Given the description of an element on the screen output the (x, y) to click on. 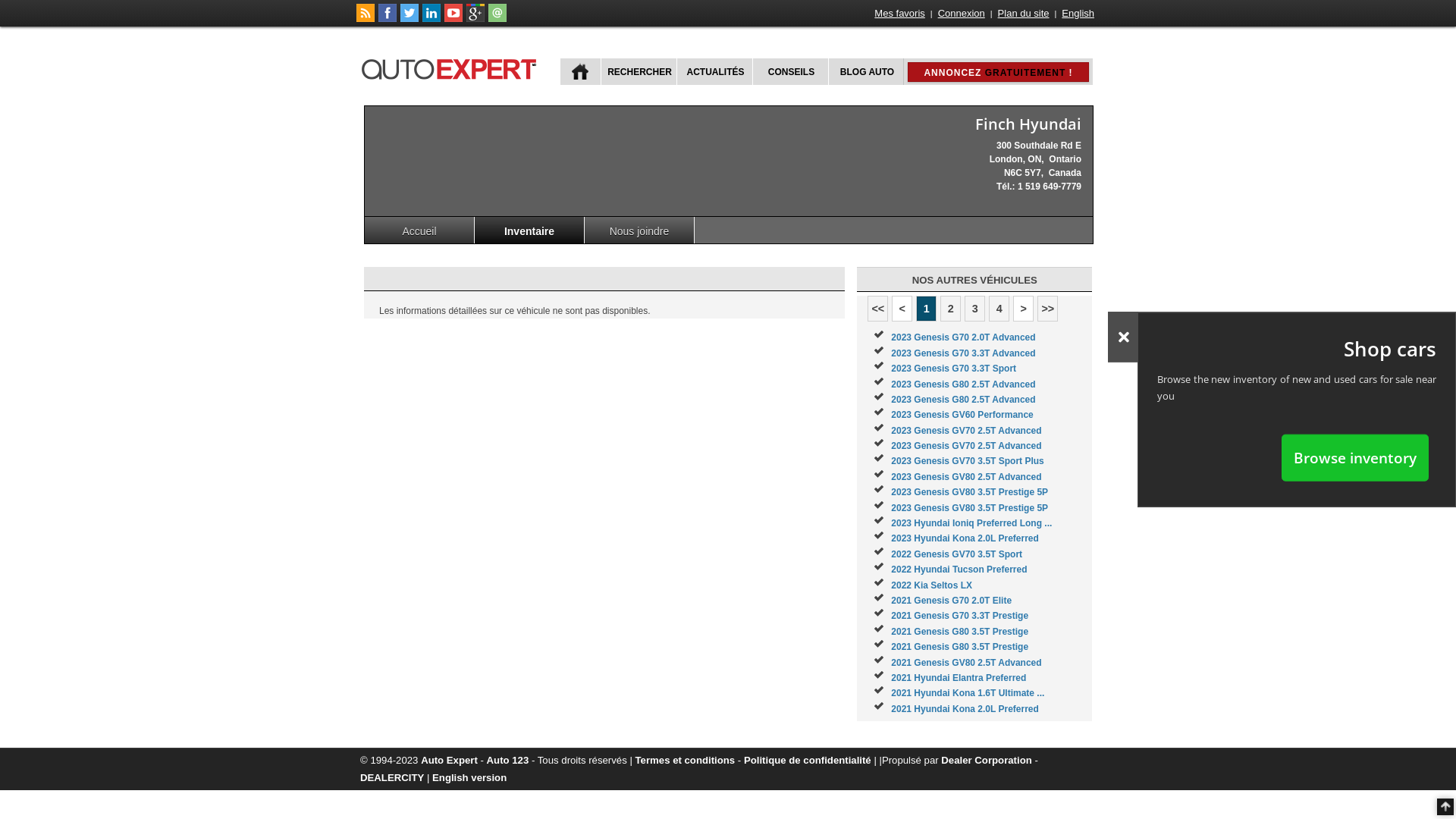
2021 Genesis G70 2.0T Elite Element type: text (951, 600)
2023 Genesis GV70 2.5T Advanced Element type: text (966, 430)
Joindre autoExpert.ca Element type: hover (497, 18)
2023 Genesis G70 2.0T Advanced Element type: text (963, 337)
2023 Genesis GV70 2.5T Advanced Element type: text (966, 445)
>> Element type: text (1047, 308)
Suivez autoExpert.ca sur Twitter Element type: hover (409, 18)
Termes et conditions Element type: text (685, 759)
2023 Genesis G80 2.5T Advanced Element type: text (963, 384)
Nous joindre Element type: text (639, 229)
2023 Genesis GV80 3.5T Prestige 5P Element type: text (969, 491)
ACCUEIL Element type: text (580, 71)
Accueil Element type: text (419, 229)
> Element type: text (1023, 308)
4 Element type: text (998, 308)
2021 Hyundai Elantra Preferred Element type: text (958, 677)
2023 Genesis GV80 2.5T Advanced Element type: text (966, 476)
2022 Kia Seltos LX Element type: text (931, 585)
1 Element type: text (926, 308)
English Element type: text (1077, 13)
2023 Hyundai Kona 2.0L Preferred Element type: text (964, 538)
2023 Genesis GV70 3.5T Sport Plus Element type: text (967, 460)
Browse inventory Element type: text (1354, 457)
Plan du site Element type: text (1023, 13)
Auto Expert Element type: text (448, 759)
< Element type: text (901, 308)
Inventaire Element type: text (529, 229)
DEALERCITY Element type: text (391, 777)
2023 Genesis G70 3.3T Sport Element type: text (953, 368)
Suivez autoExpert.ca sur Facebook Element type: hover (387, 18)
Dealer Corporation Element type: text (986, 759)
BLOG AUTO Element type: text (865, 71)
English version Element type: text (469, 777)
3 Element type: text (974, 308)
2022 Hyundai Tucson Preferred Element type: text (958, 569)
Suivez autoExpert.ca sur Youtube Element type: hover (453, 18)
RECHERCHER Element type: text (637, 71)
Suivez Publications Le Guide Inc. sur LinkedIn Element type: hover (431, 18)
2023 Hyundai Ioniq Preferred Long ... Element type: text (971, 522)
2022 Genesis GV70 3.5T Sport Element type: text (956, 554)
2021 Genesis G70 3.3T Prestige Element type: text (959, 615)
Suivez autoExpert.ca sur Google Plus Element type: hover (475, 18)
autoExpert.ca Element type: text (451, 66)
2021 Hyundai Kona 2.0L Preferred Element type: text (964, 708)
2 Element type: text (950, 308)
Connexion Element type: text (961, 13)
ANNONCEZ GRATUITEMENT ! Element type: text (997, 71)
2023 Genesis G80 2.5T Advanced Element type: text (963, 399)
2023 Genesis GV80 3.5T Prestige 5P Element type: text (969, 507)
Mes favoris Element type: text (898, 13)
Auto 123 Element type: text (507, 759)
2021 Genesis G80 3.5T Prestige Element type: text (959, 631)
2021 Genesis GV80 2.5T Advanced Element type: text (966, 662)
<< Element type: text (877, 308)
2023 Genesis G70 3.3T Advanced Element type: text (963, 353)
2021 Genesis G80 3.5T Prestige Element type: text (959, 646)
2023 Genesis GV60 Performance Element type: text (961, 414)
CONSEILS Element type: text (789, 71)
2021 Hyundai Kona 1.6T Ultimate ... Element type: text (967, 692)
